Given the description of an element on the screen output the (x, y) to click on. 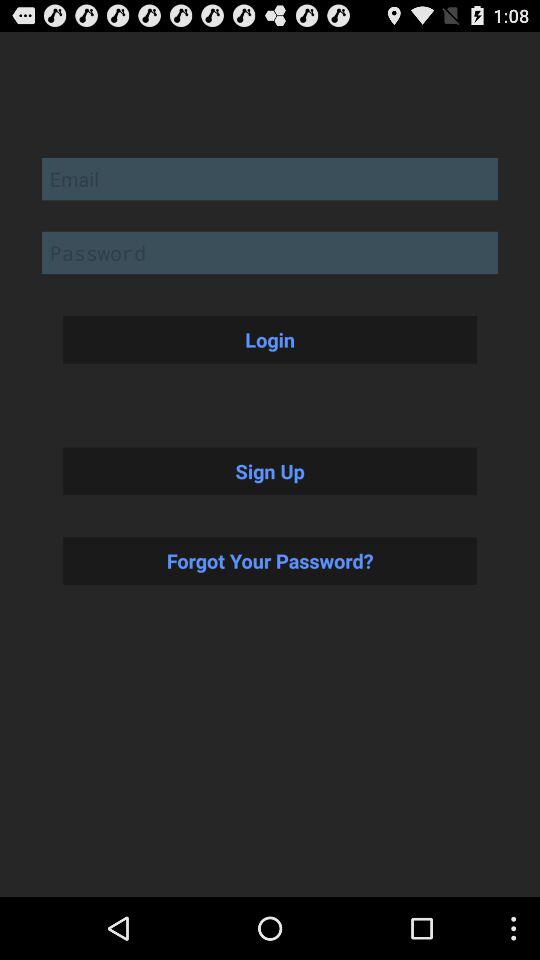
enter email field (270, 178)
